Given the description of an element on the screen output the (x, y) to click on. 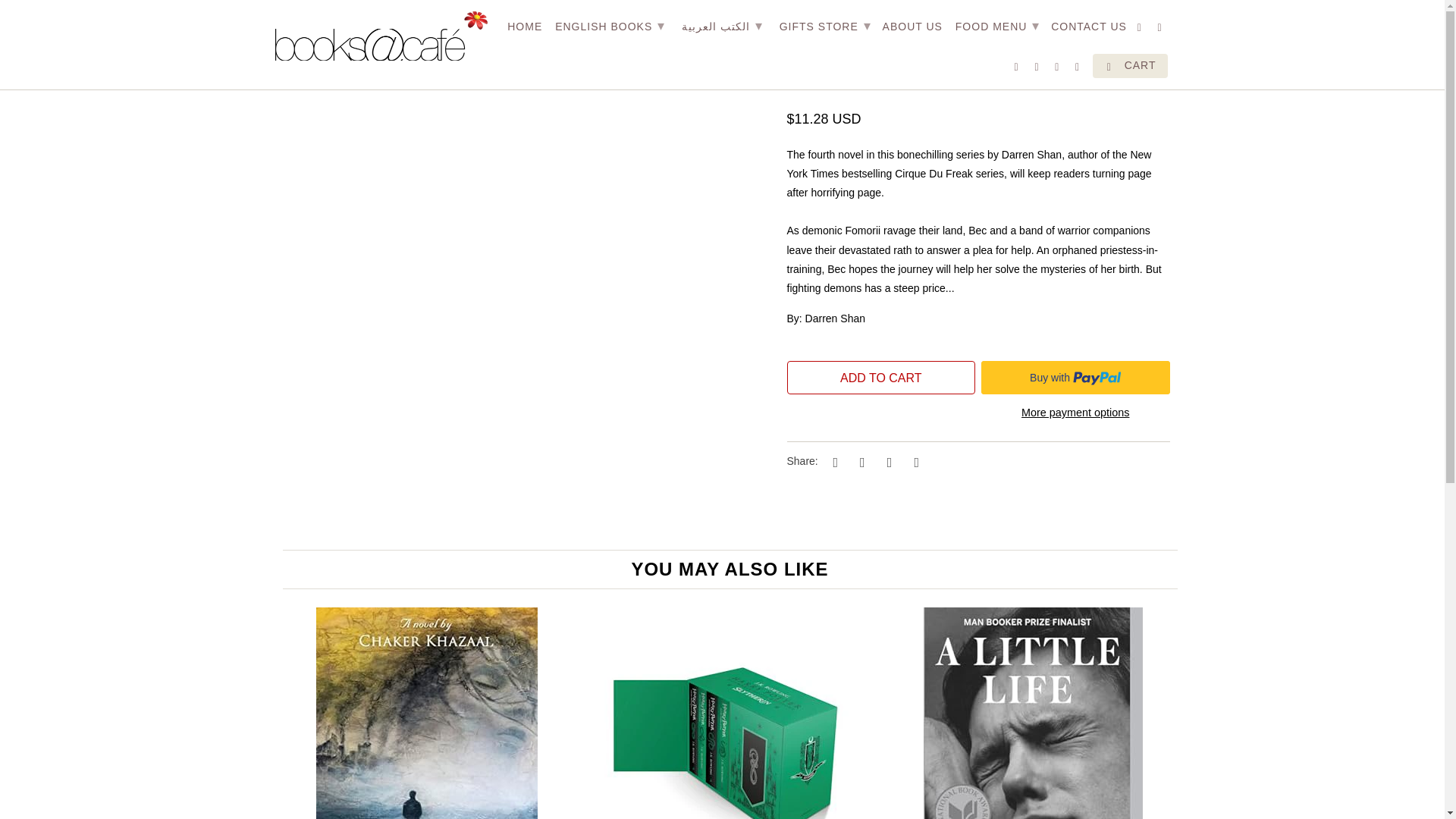
Share this on Twitter (833, 461)
booksatcafe (380, 35)
booksatcafe (288, 24)
Share this on Facebook (859, 461)
Products (339, 24)
Share this on Pinterest (887, 461)
Email this to a friend (914, 461)
